Given the description of an element on the screen output the (x, y) to click on. 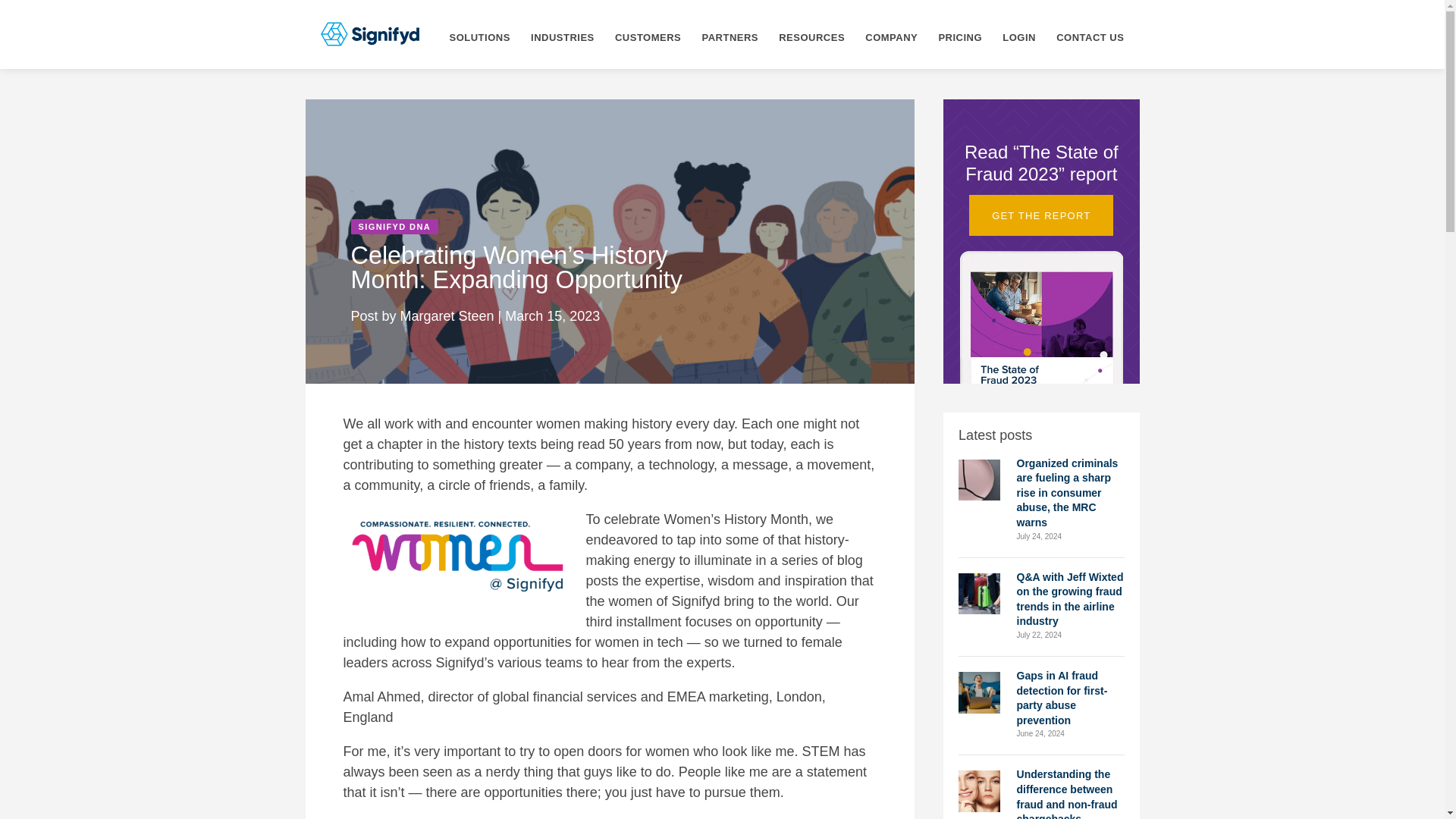
SOLUTIONS (478, 33)
state-of-fraud-report-23 (1040, 317)
CONTACT US (1090, 33)
RESOURCES (811, 33)
CUSTOMERS (647, 33)
Gaps in AI fraud detection for first-party abuse prevention (979, 691)
INDUSTRIES (562, 33)
